Given the description of an element on the screen output the (x, y) to click on. 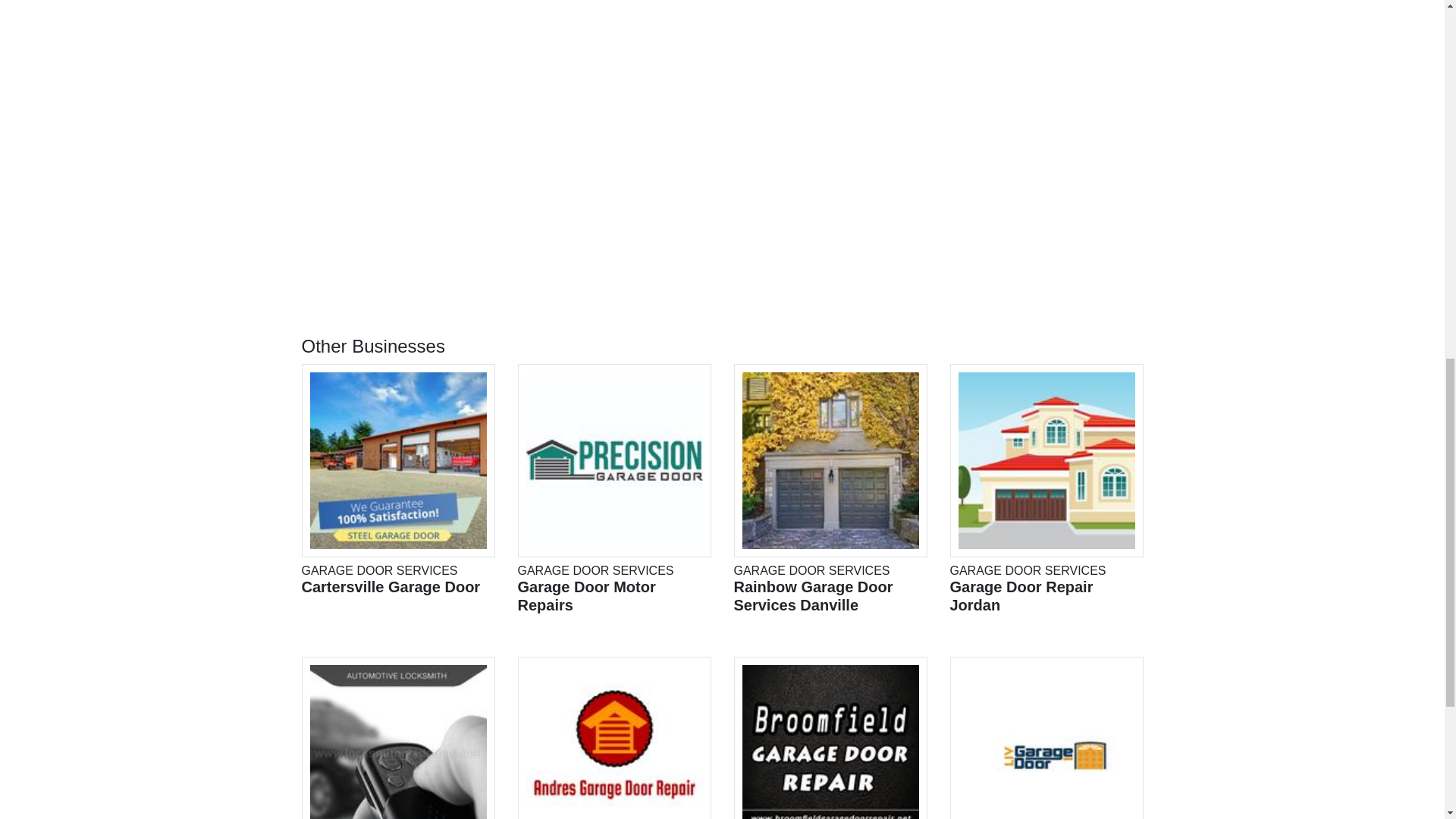
Advertisement (613, 737)
